Given the description of an element on the screen output the (x, y) to click on. 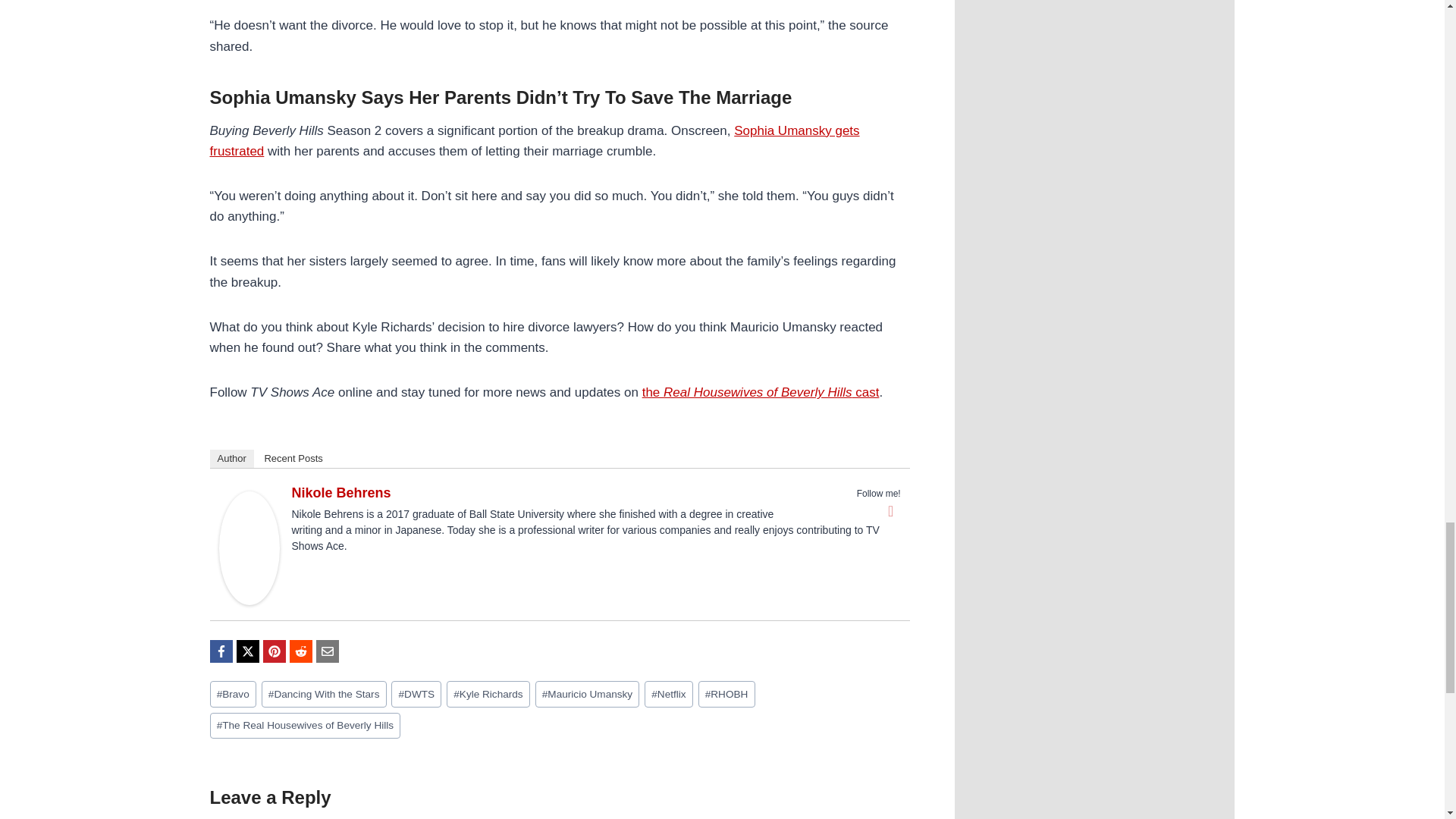
Recent Posts (293, 458)
RHOBH (726, 693)
Netflix (669, 693)
DWTS (416, 693)
The Real Housewives of Beverly Hills (304, 725)
Nikole Behrens (340, 492)
Bravo (232, 693)
the Real Housewives of Beverly Hills cast (760, 391)
Sophia Umansky gets frustrated (534, 140)
Mauricio Umansky (587, 693)
Kyle Richards (487, 693)
Author (231, 458)
Twitter (890, 511)
Dancing With the Stars (324, 693)
